Given the description of an element on the screen output the (x, y) to click on. 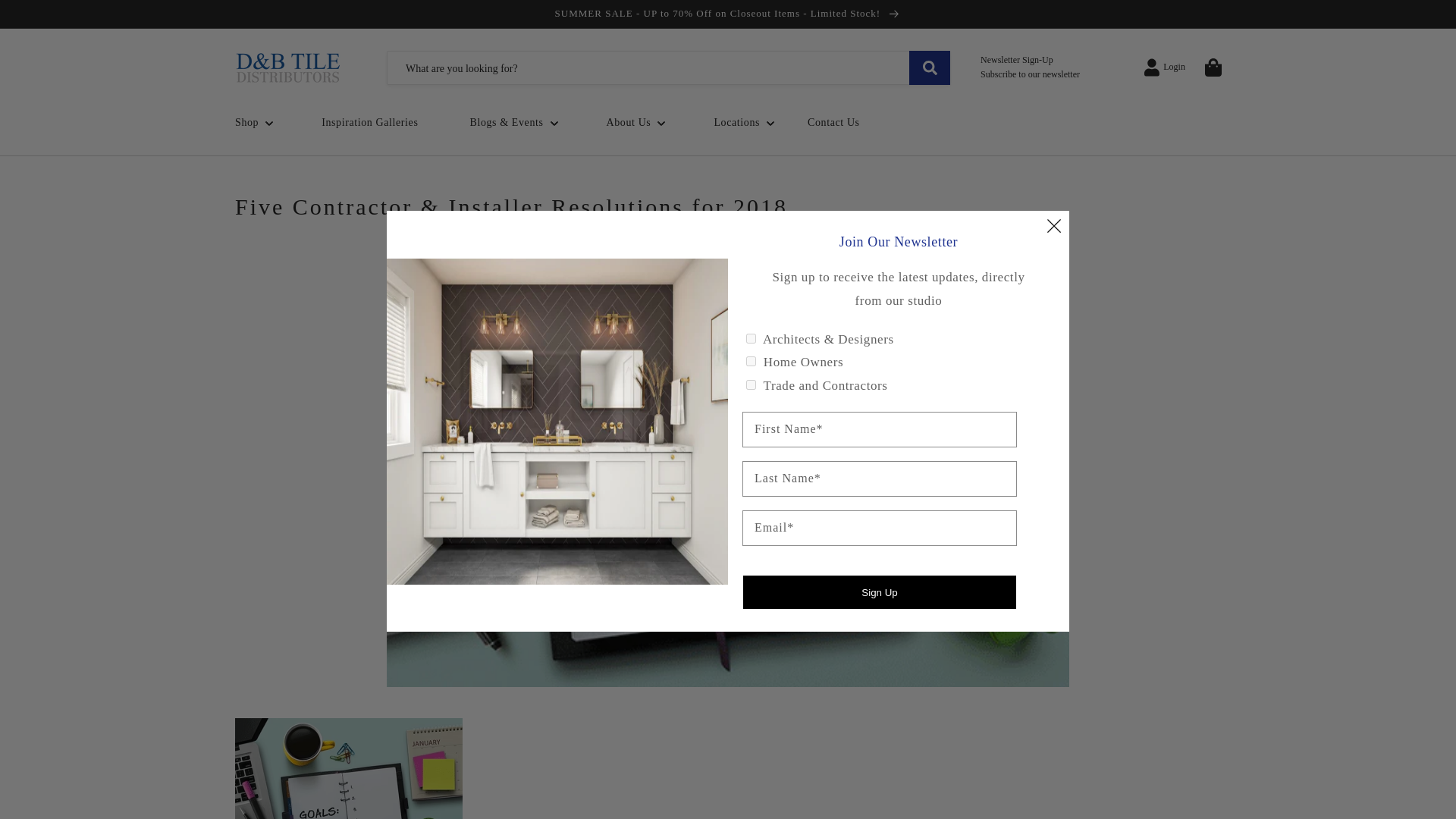
Home Owners (750, 361)
Skip to content (45, 16)
Architects Designers (750, 338)
Trade Contractors (750, 384)
